Given the description of an element on the screen output the (x, y) to click on. 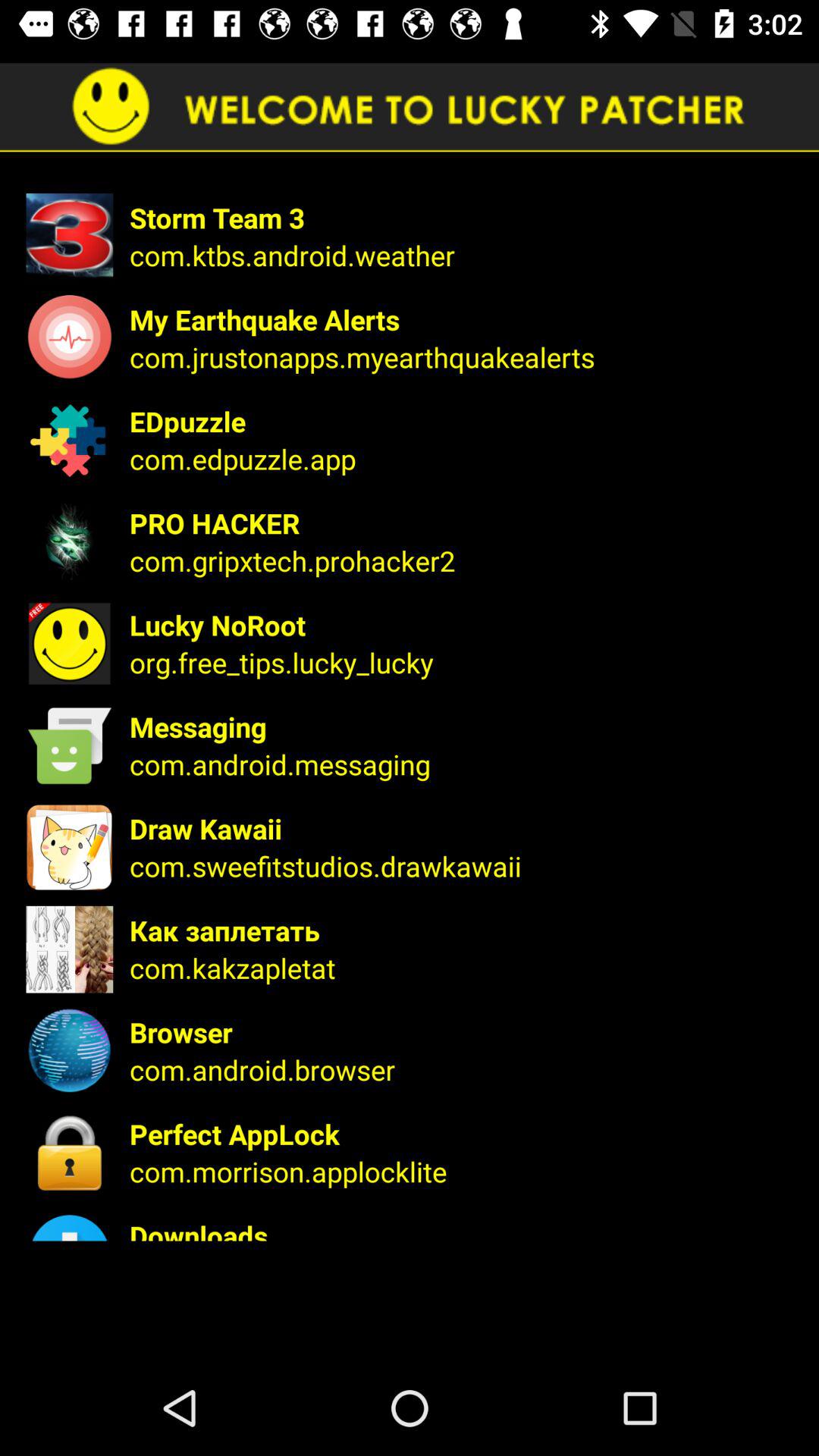
launch the icon below the com.sweefitstudios.drawkawaii icon (464, 930)
